Given the description of an element on the screen output the (x, y) to click on. 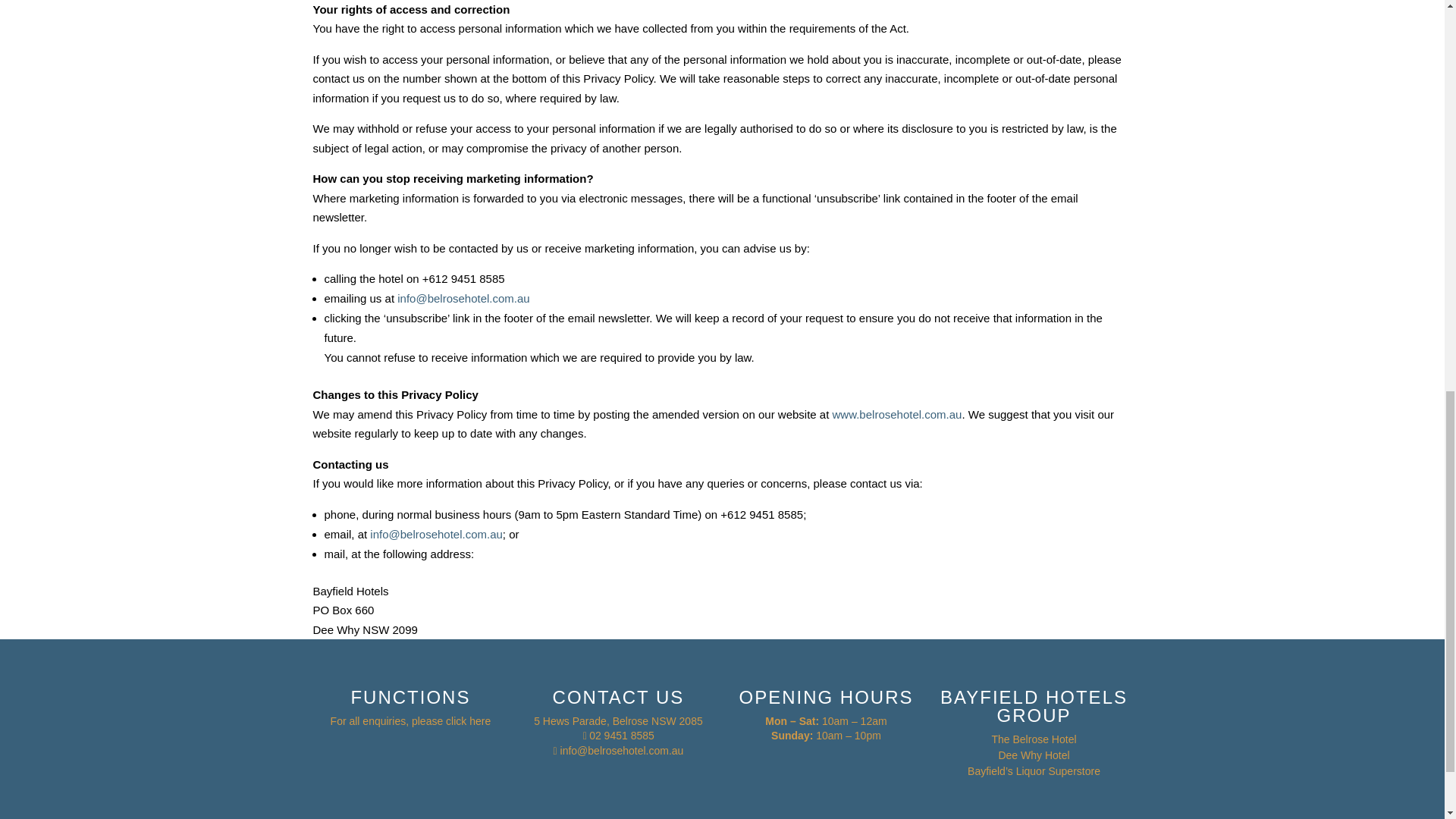
click here (467, 720)
Dee Why Hotel (1032, 755)
The Belrose Hotel (1033, 739)
02 9451 8585 (621, 735)
www.belrosehotel.com.au (897, 413)
5 Hews Parade, Belrose NSW 2085 (618, 720)
